Given the description of an element on the screen output the (x, y) to click on. 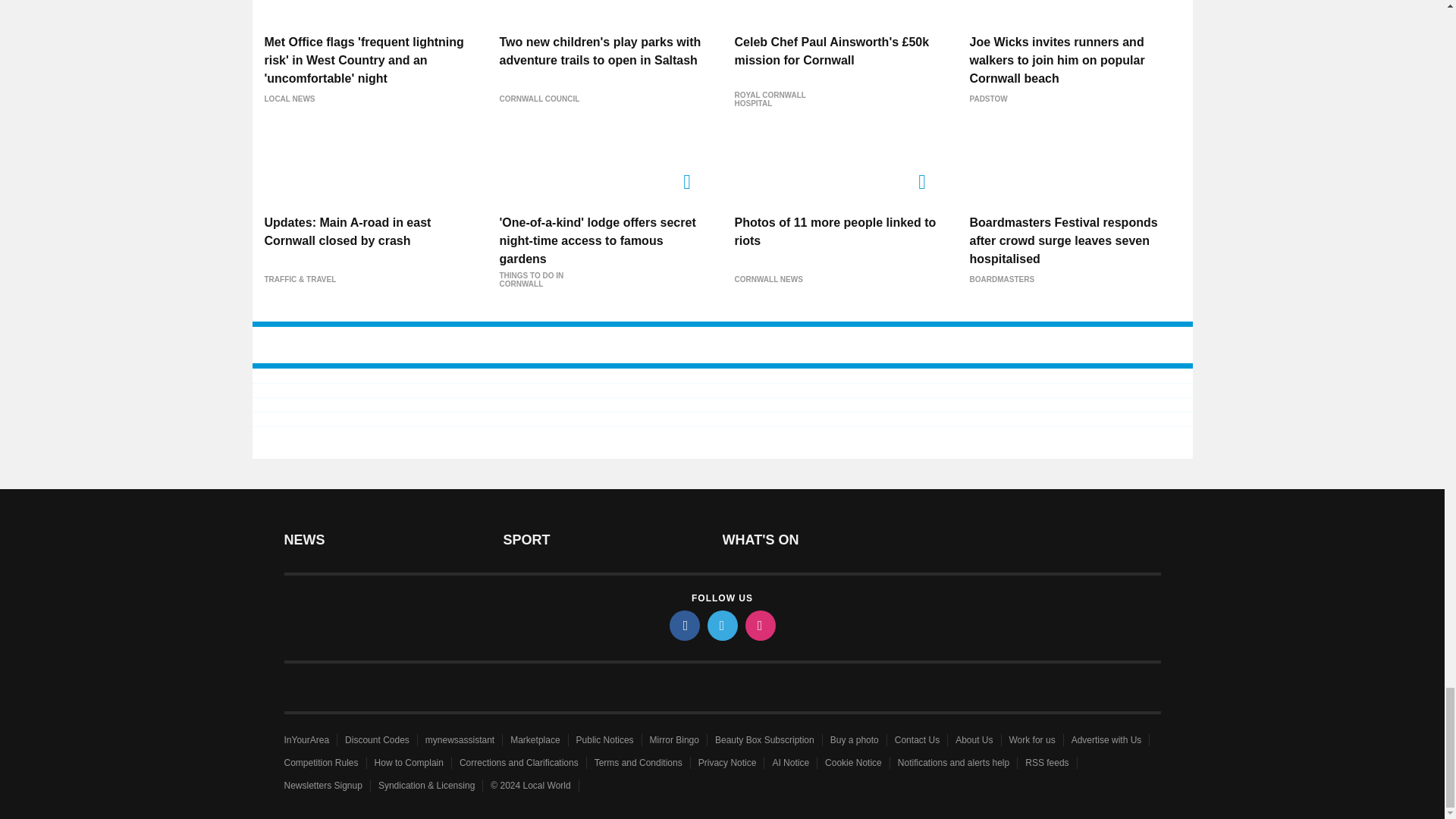
facebook (683, 625)
twitter (721, 625)
instagram (759, 625)
